Given the description of an element on the screen output the (x, y) to click on. 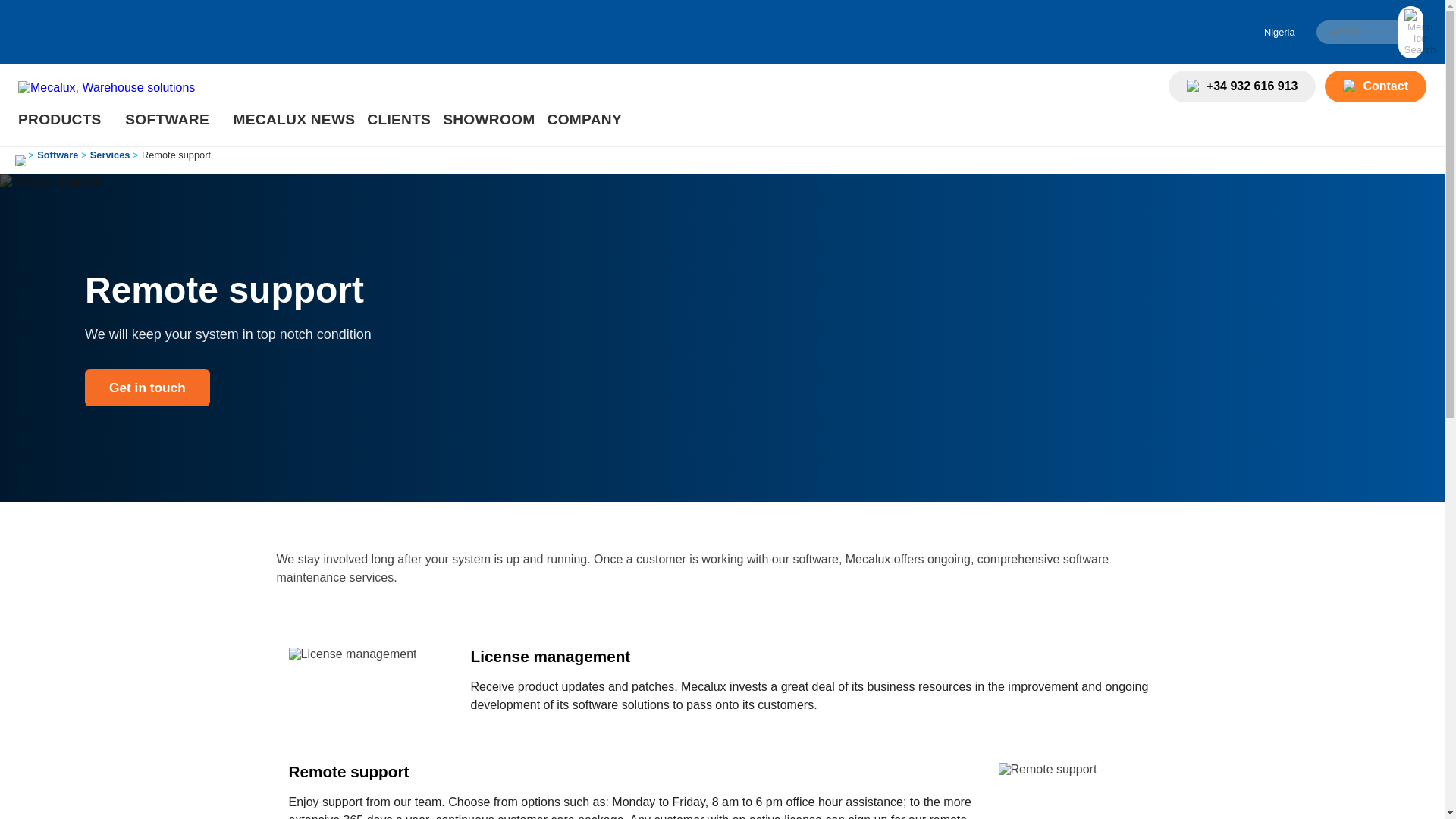
Search (1369, 32)
Mecalux, Warehouse solutions (106, 87)
SOFTWARE (168, 119)
Contact (1375, 86)
Contact (1375, 86)
PRODUCTS (60, 119)
Mecalux, Warehouse solutions (106, 88)
Contact (1352, 86)
Warehouse solutions (60, 119)
